Given the description of an element on the screen output the (x, y) to click on. 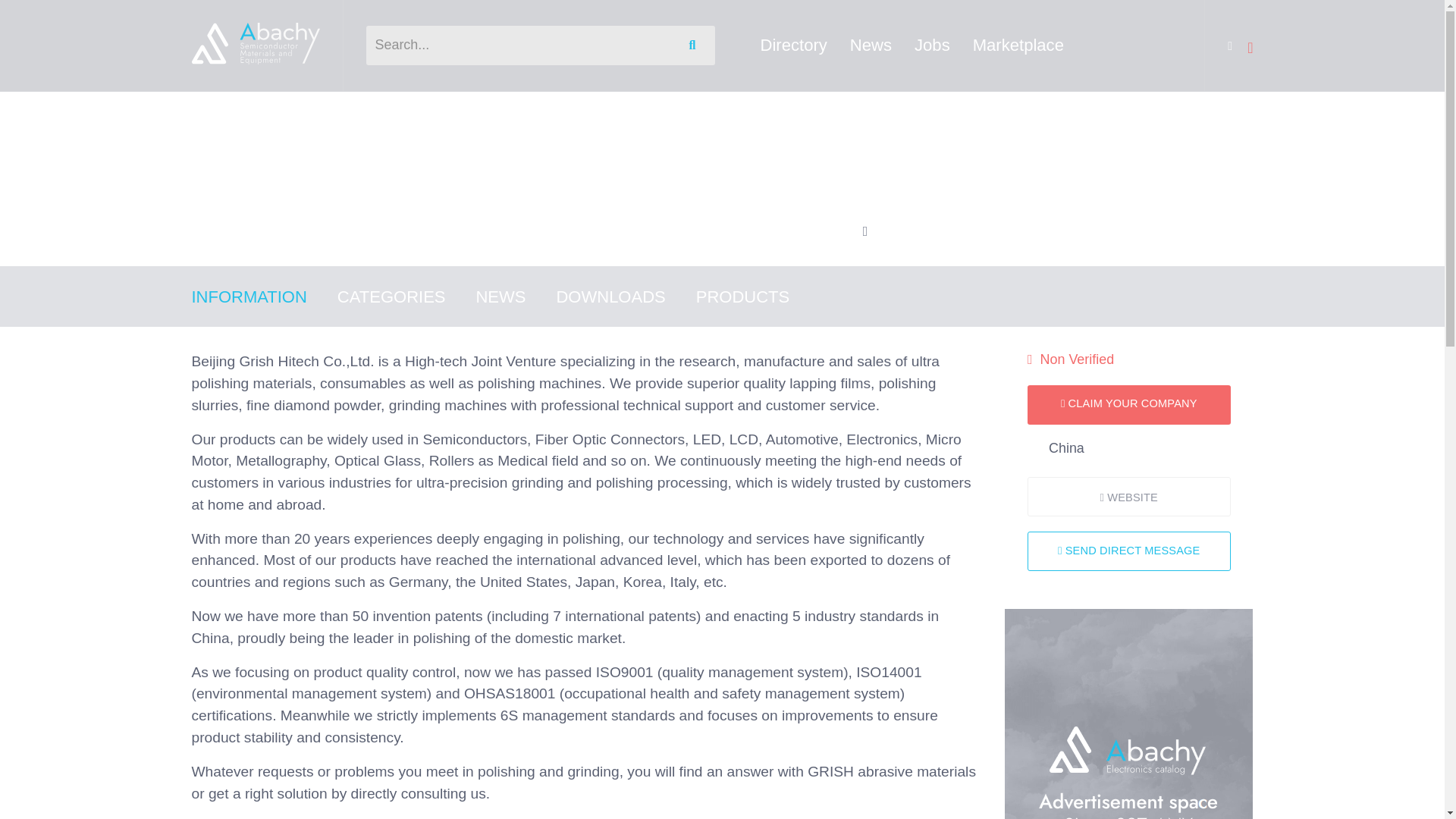
INFORMATION (263, 296)
Directory (793, 44)
WEBSITE (1128, 496)
CLAIM YOUR COMPANY (1128, 404)
Wafer Manufacturing Equipment (724, 111)
Jobs (932, 44)
Semiconductor Equipment (368, 111)
Home (207, 111)
Semiconductor Materials and Equipment  (254, 43)
Search (694, 45)
